Given the description of an element on the screen output the (x, y) to click on. 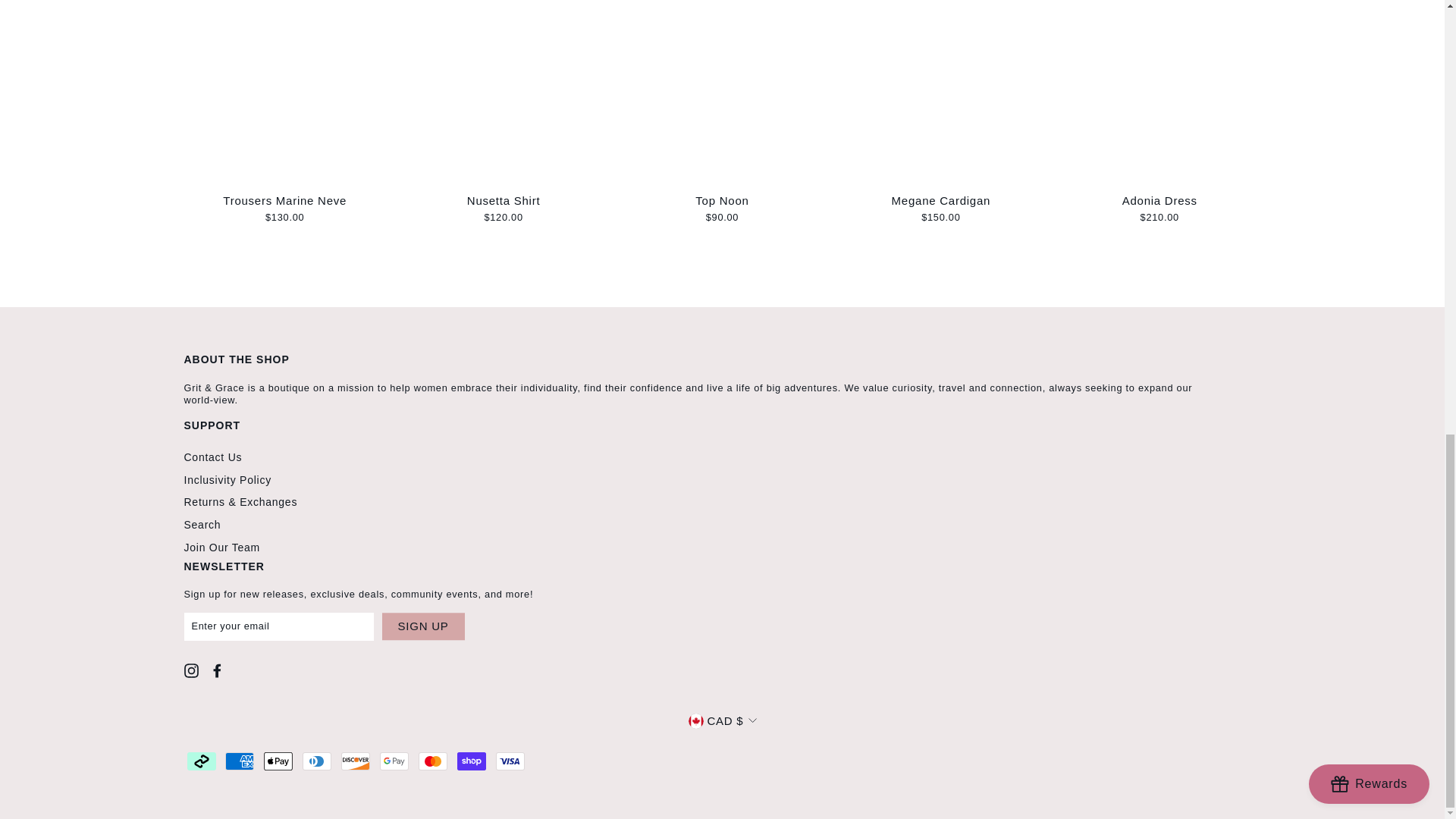
Mastercard (432, 761)
Afterpay (200, 761)
Shop Pay (471, 761)
Apple Pay (277, 761)
Diners Club (316, 761)
American Express (239, 761)
Discover (354, 761)
Visa (510, 761)
Google Pay (394, 761)
